Given the description of an element on the screen output the (x, y) to click on. 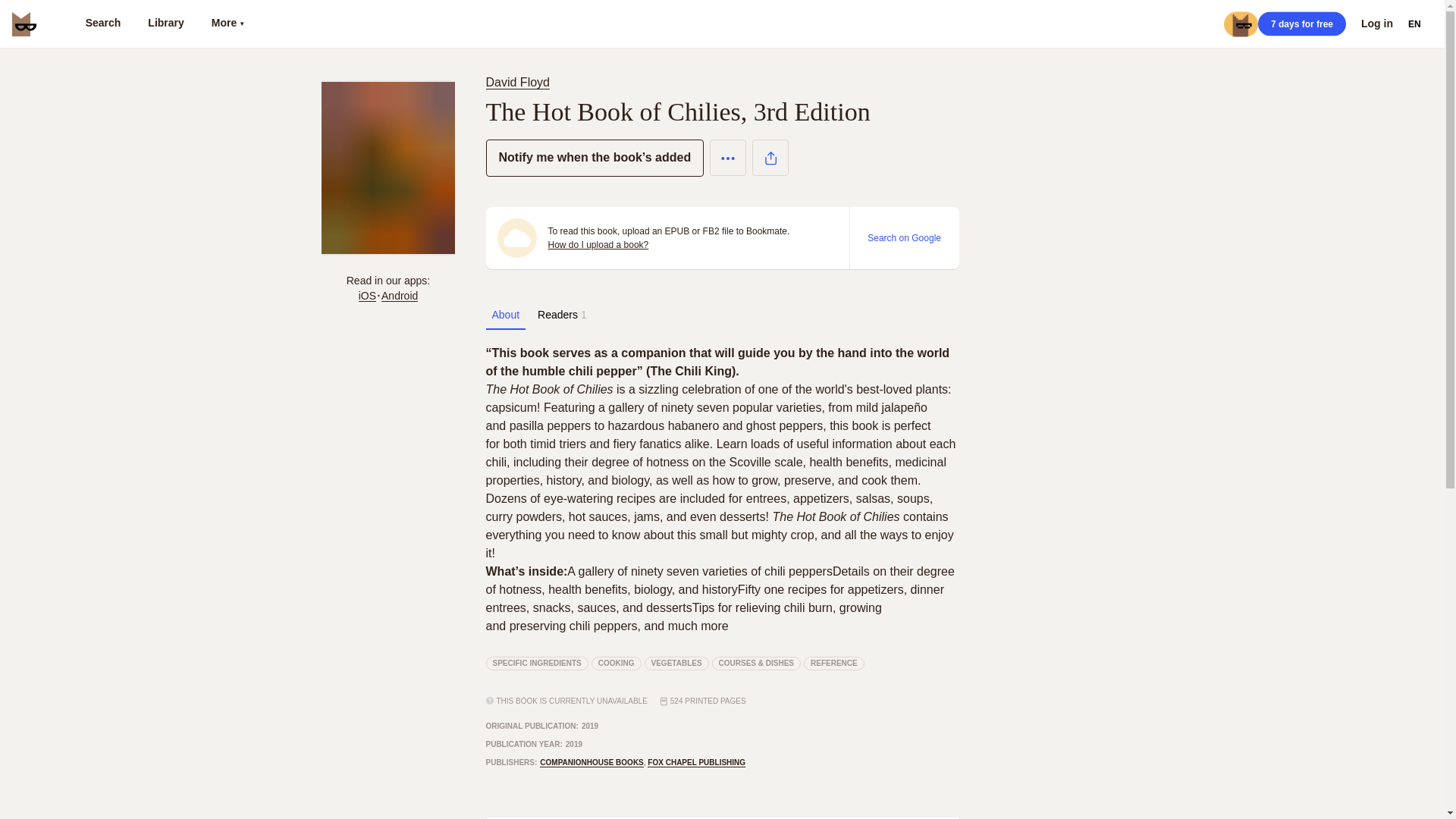
Search on Google (903, 237)
REFERENCE (833, 663)
VEGETABLES (677, 663)
David Floyd (519, 82)
How do I upload a book? (597, 244)
COOKING (616, 663)
COMPANIONHOUSE BOOKS (591, 762)
7 days for free (1301, 23)
About (504, 314)
David Floyd (516, 82)
